Given the description of an element on the screen output the (x, y) to click on. 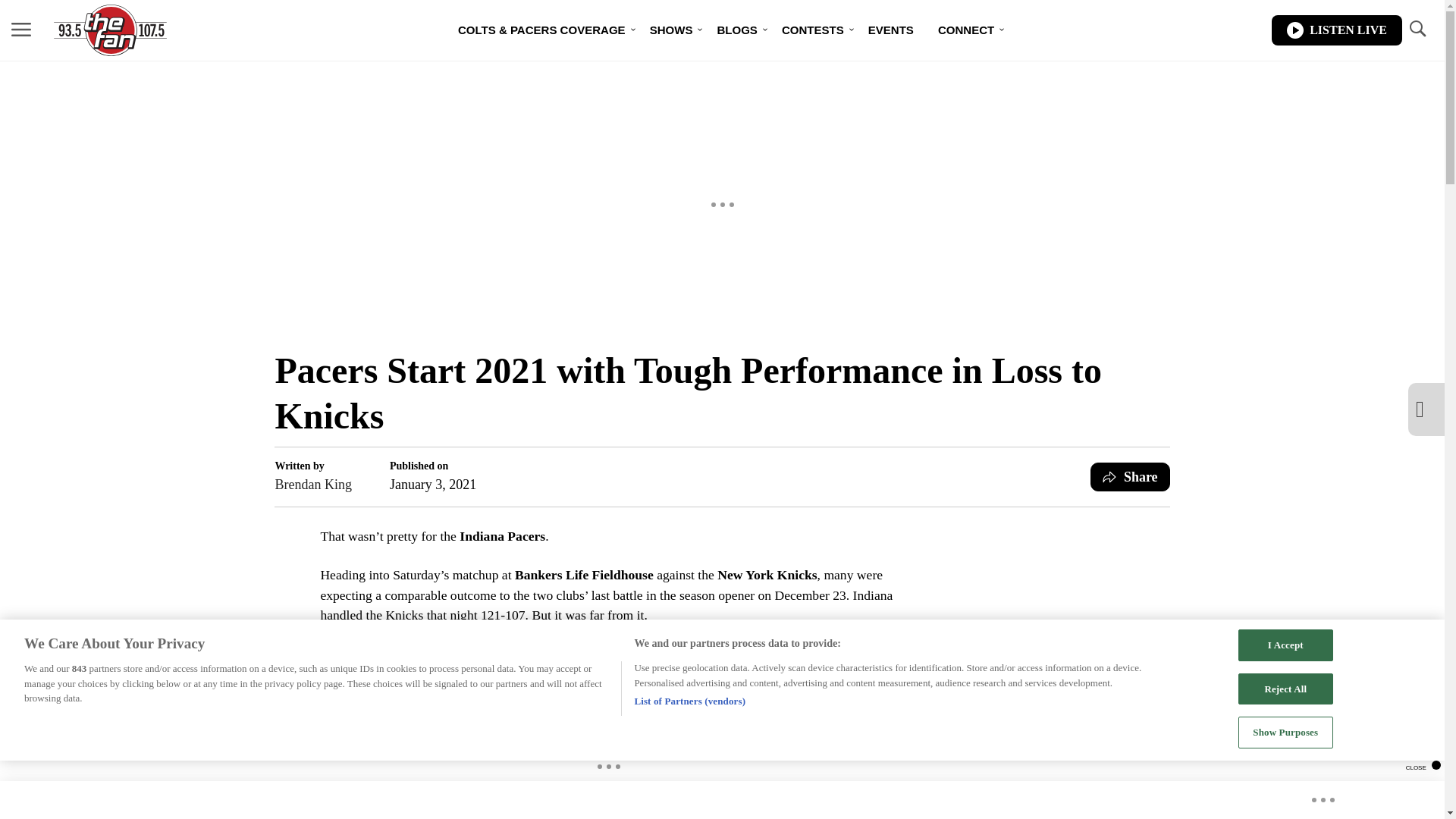
MENU (20, 30)
CONNECT (966, 30)
EVENTS (891, 30)
MENU (20, 29)
BLOGS (736, 30)
LISTEN LIVE (1336, 30)
CONTESTS (813, 30)
TOGGLE SEARCH (1417, 30)
SHOWS (670, 30)
TOGGLE SEARCH (1417, 28)
